Given the description of an element on the screen output the (x, y) to click on. 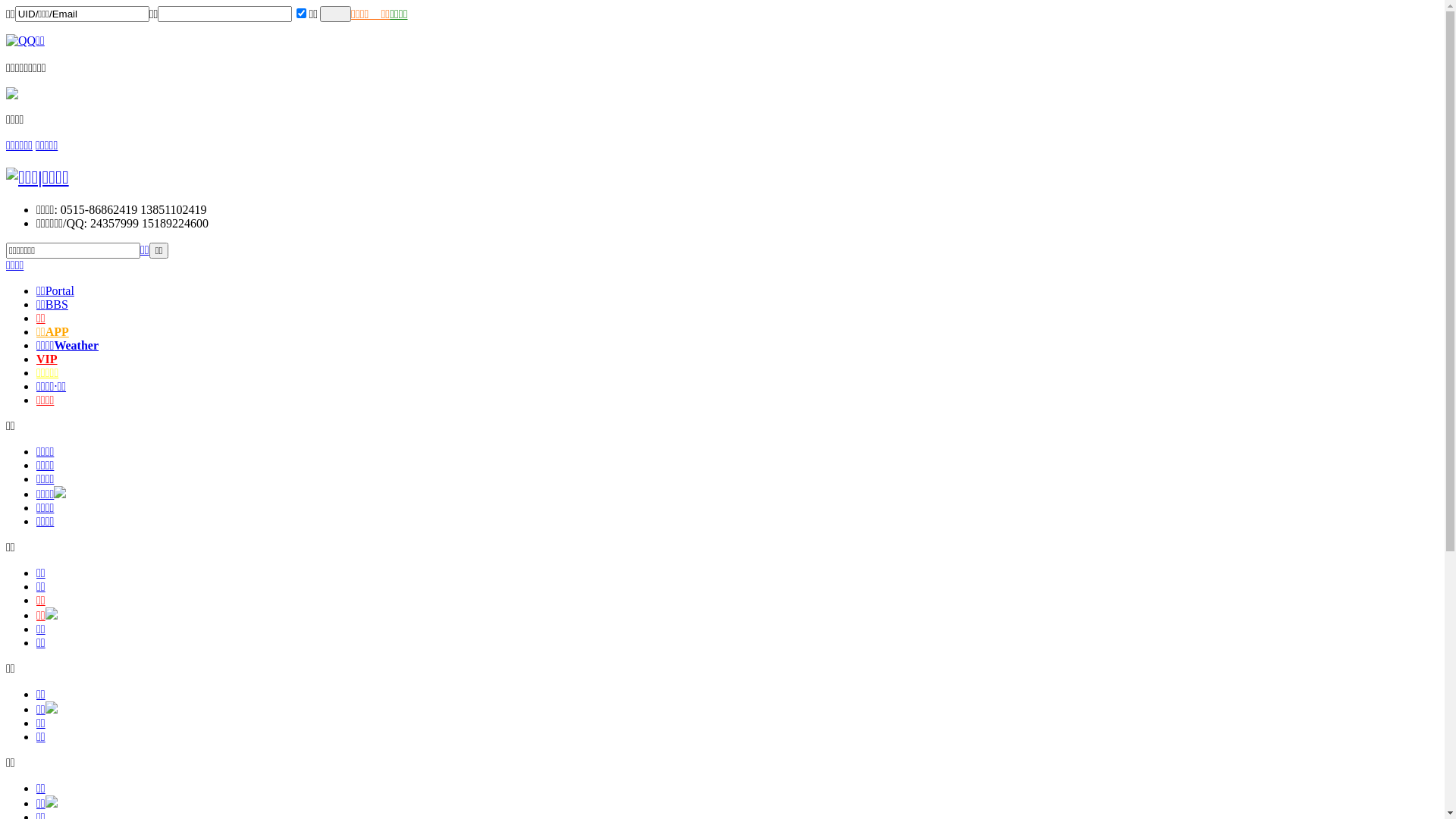
     Element type: text (335, 13)
VIP Element type: text (46, 358)
